Given the description of an element on the screen output the (x, y) to click on. 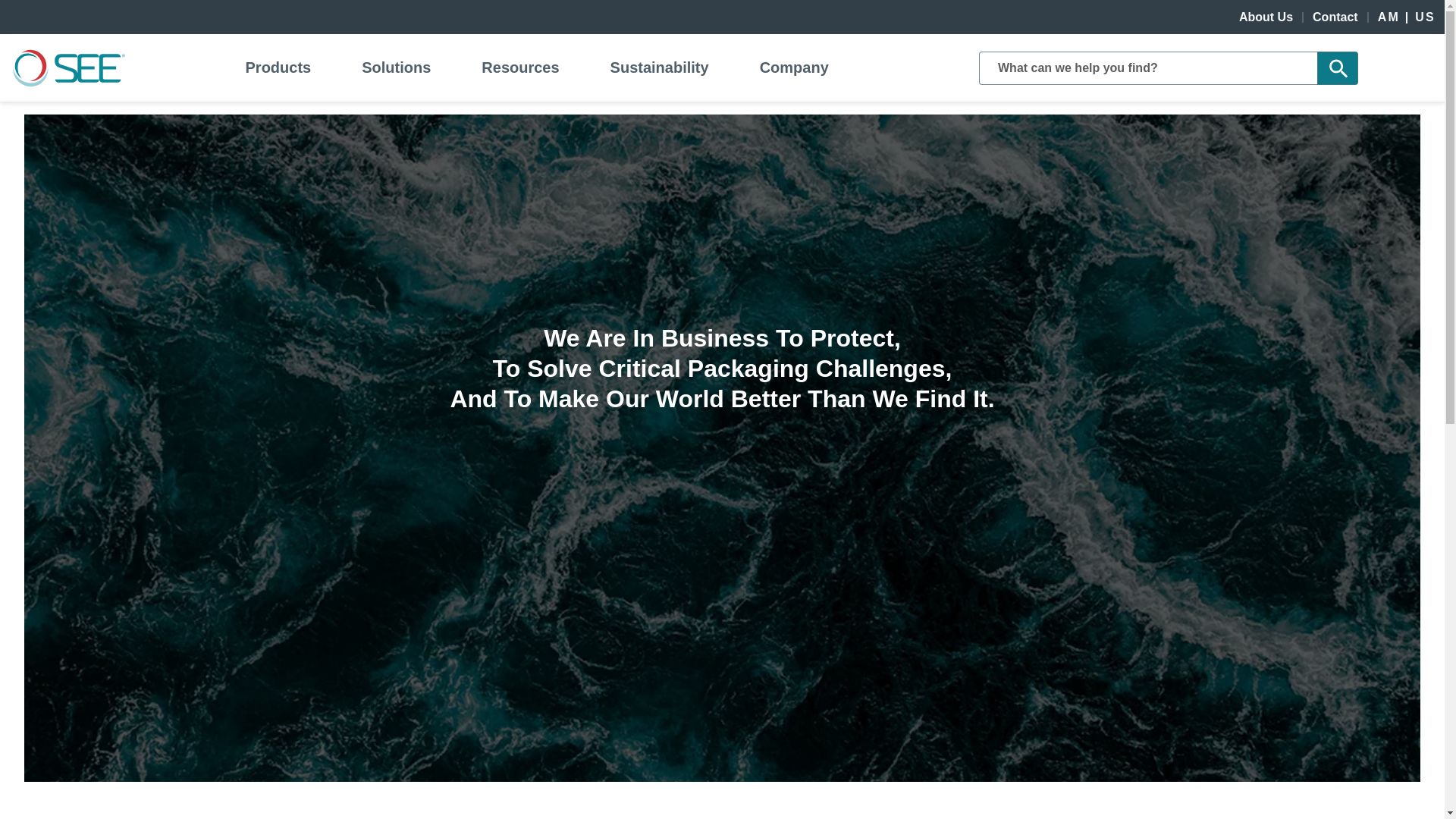
Products (277, 67)
About Us (1266, 17)
Contact (1335, 17)
Company (793, 67)
Solutions (396, 67)
Resources (521, 67)
Sustainability (659, 67)
